Given the description of an element on the screen output the (x, y) to click on. 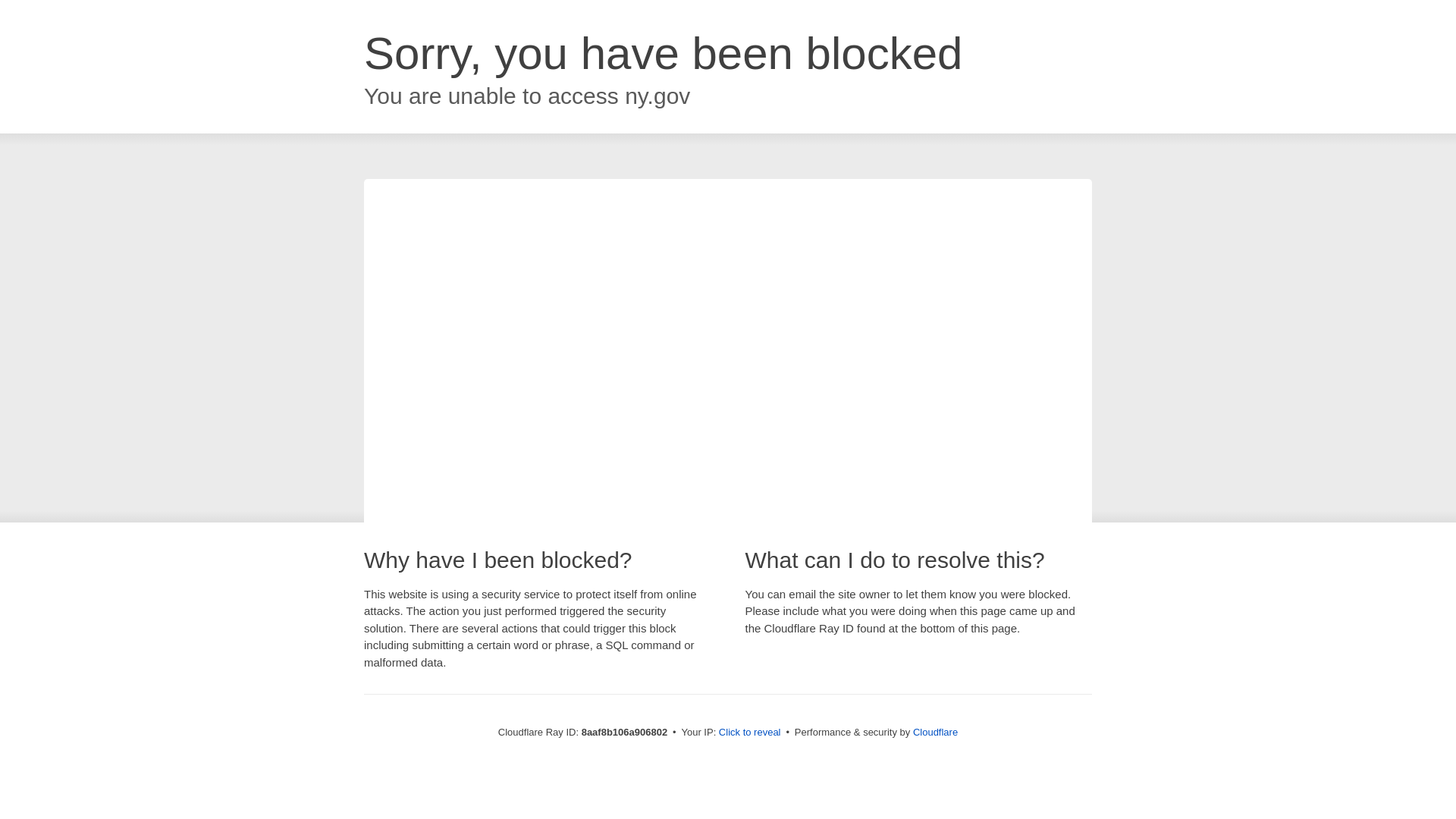
Click to reveal (749, 732)
Cloudflare (935, 731)
